Given the description of an element on the screen output the (x, y) to click on. 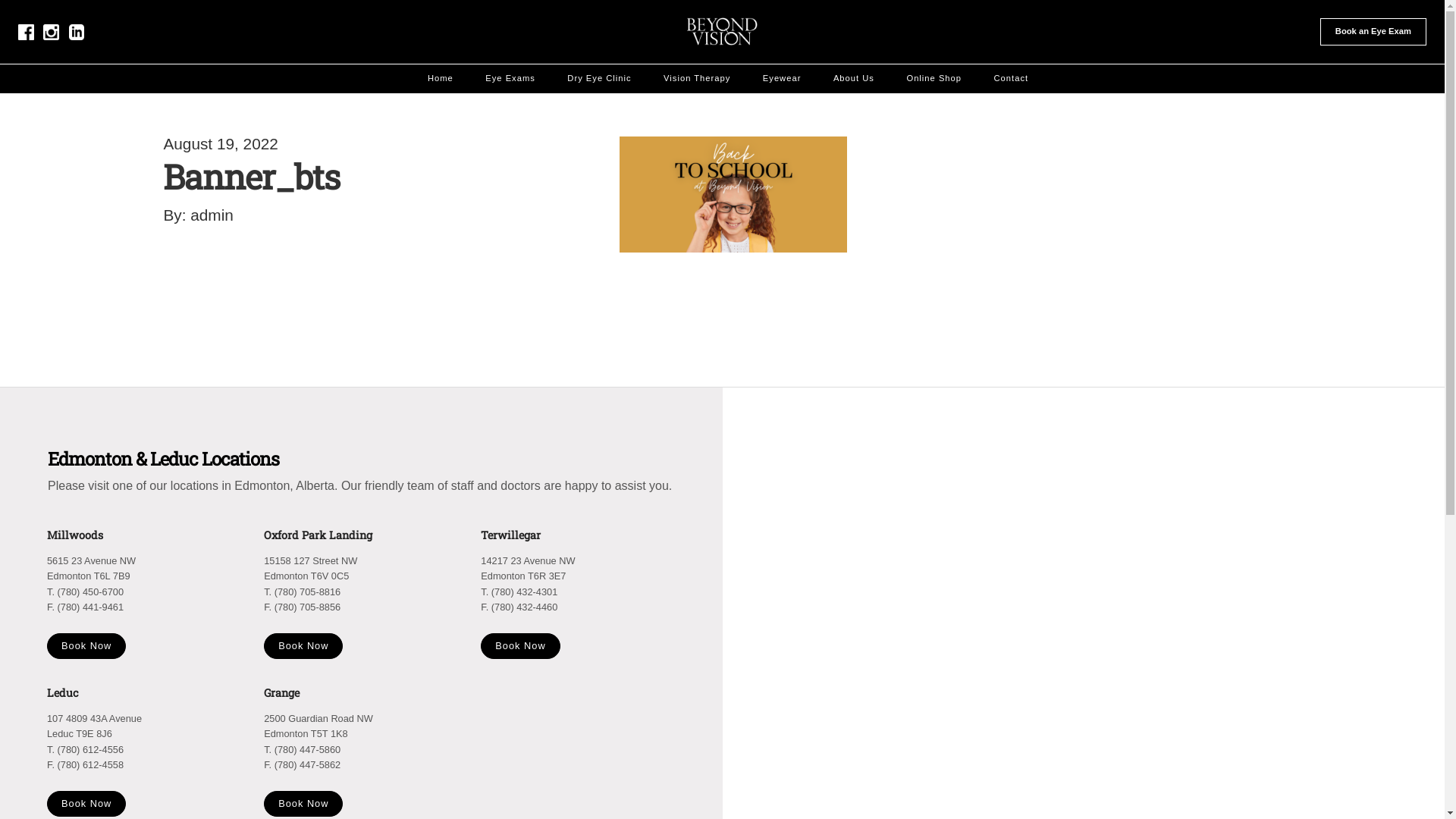
Book Now Element type: text (519, 646)
Eyewear Element type: text (781, 78)
Online Shop Element type: text (933, 78)
Dry Eye Clinic Element type: text (598, 78)
Contact Element type: text (1011, 78)
Banner_bts Element type: text (251, 175)
Home Element type: text (440, 78)
Book an Eye Exam Element type: text (1373, 31)
Eye Exams Element type: text (509, 78)
Book Now Element type: text (86, 803)
Book Now Element type: text (302, 803)
Book Now Element type: text (302, 646)
Vision Therapy Element type: text (696, 78)
Book Now Element type: text (86, 646)
About Us Element type: text (853, 78)
